Given the description of an element on the screen output the (x, y) to click on. 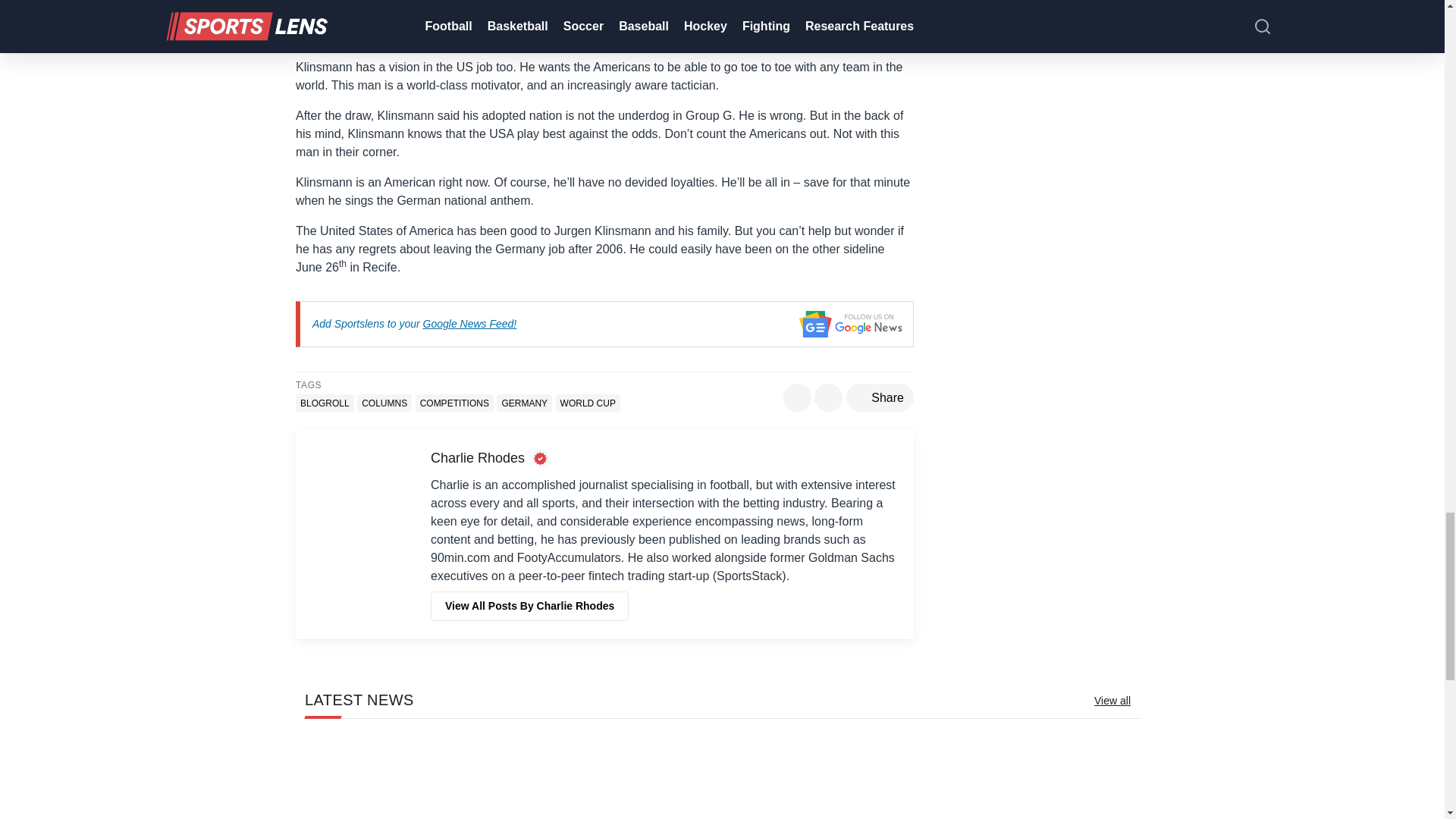
Share (879, 397)
BLOGROLL (324, 402)
COMPETITIONS (453, 402)
COLUMNS (384, 402)
View All Posts By Charlie Rhodes (529, 605)
GERMANY (523, 402)
Google News Feed! (469, 322)
WORLD CUP (588, 402)
